Given the description of an element on the screen output the (x, y) to click on. 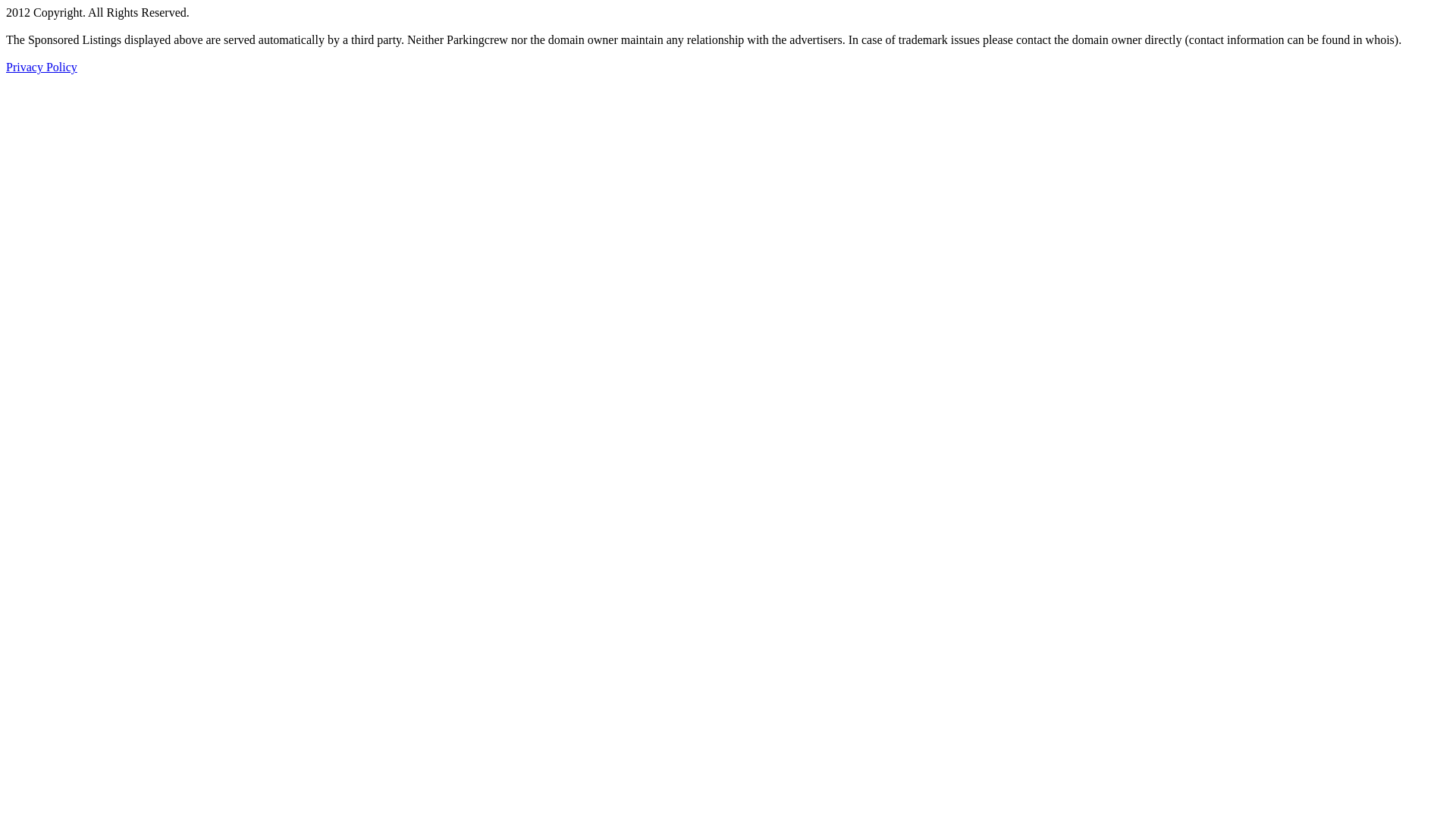
Privacy Policy Element type: text (41, 66)
